Given the description of an element on the screen output the (x, y) to click on. 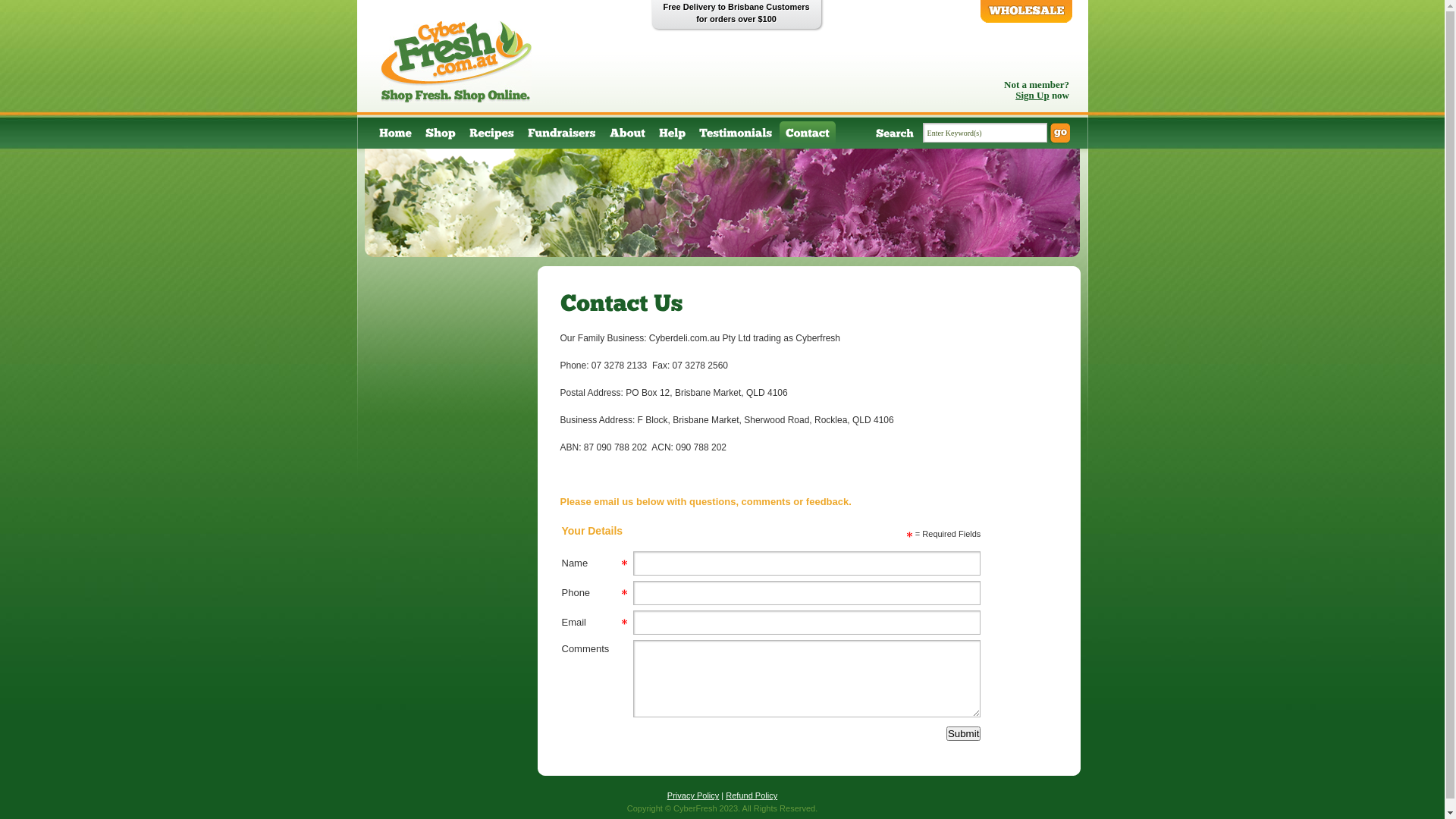
Fundraisers Element type: text (561, 134)
Recipes Element type: text (490, 134)
Contact Element type: text (807, 134)
Submit Element type: text (963, 733)
Refund Policy Element type: text (751, 795)
About Element type: text (627, 134)
Help Element type: text (671, 134)
Home Element type: text (395, 134)
Testimonials Element type: text (735, 134)
Shop Element type: text (439, 134)
Privacy Policy Element type: text (692, 795)
